Given the description of an element on the screen output the (x, y) to click on. 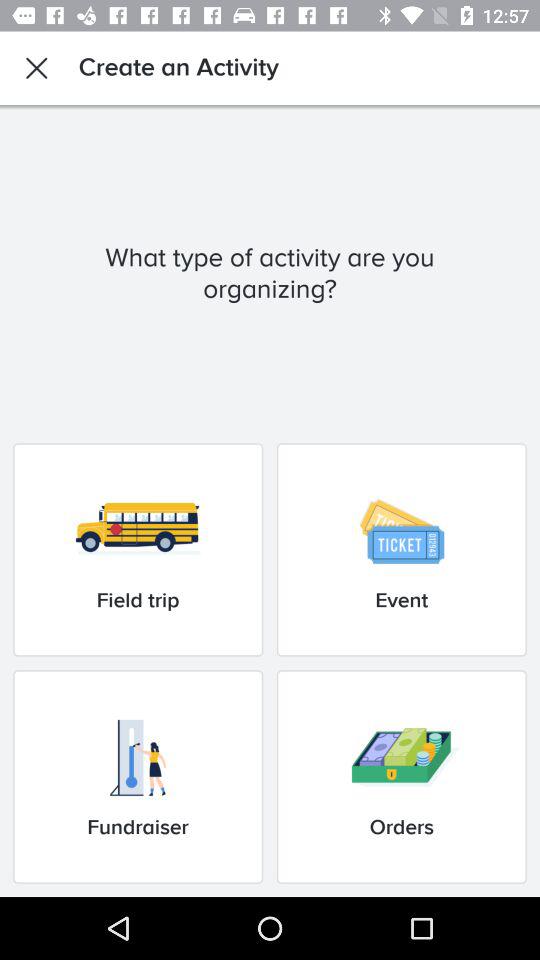
launch icon above the orders icon (401, 549)
